Given the description of an element on the screen output the (x, y) to click on. 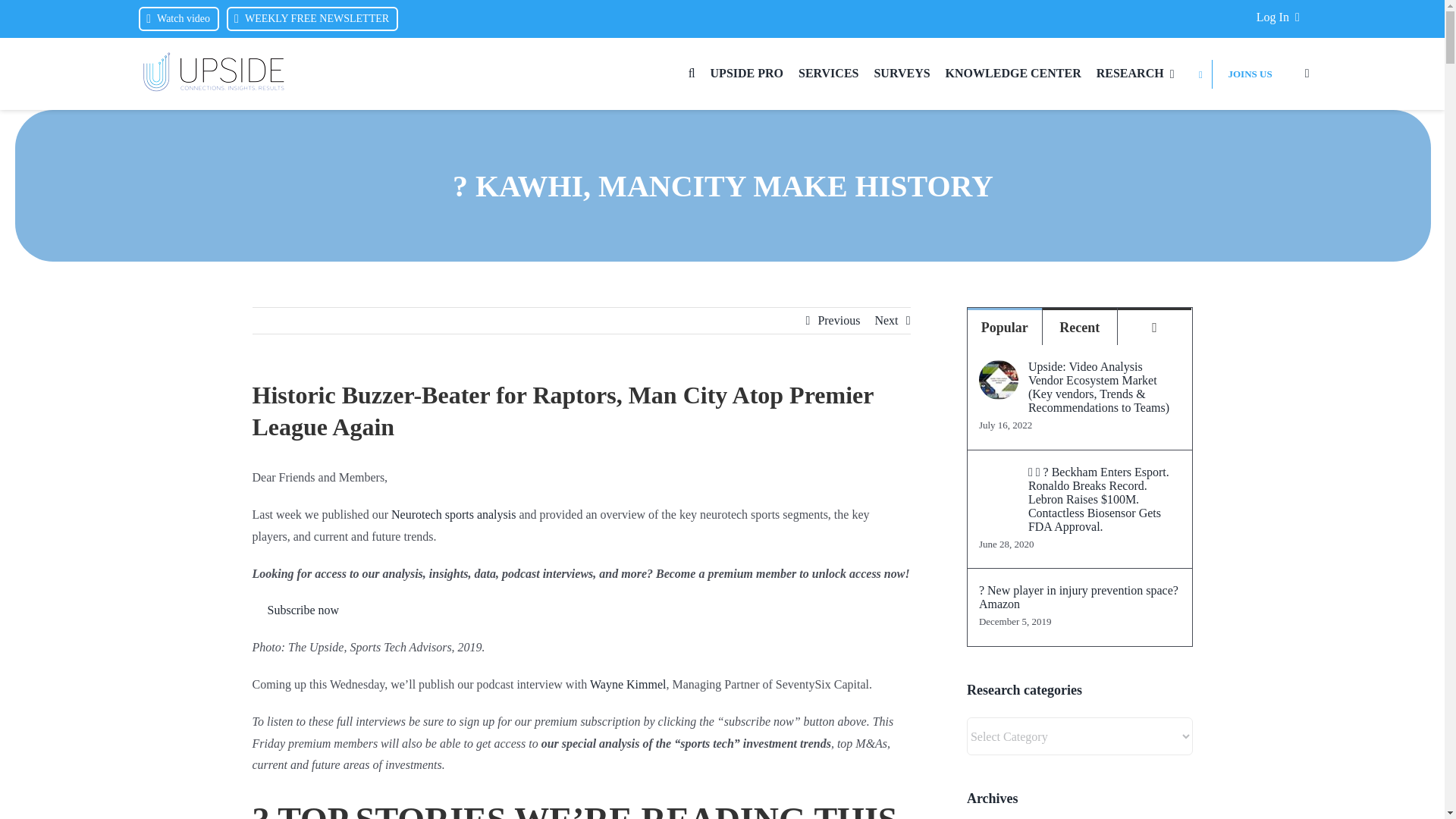
KNOWLEDGE CENTER (1012, 73)
SERVICES (828, 73)
SURVEYS (901, 73)
Watch video (178, 18)
RESEARCH (1135, 73)
Log In (1281, 17)
WEEKLY FREE NEWSLETTER (312, 18)
UPSIDE PRO (746, 73)
